Given the description of an element on the screen output the (x, y) to click on. 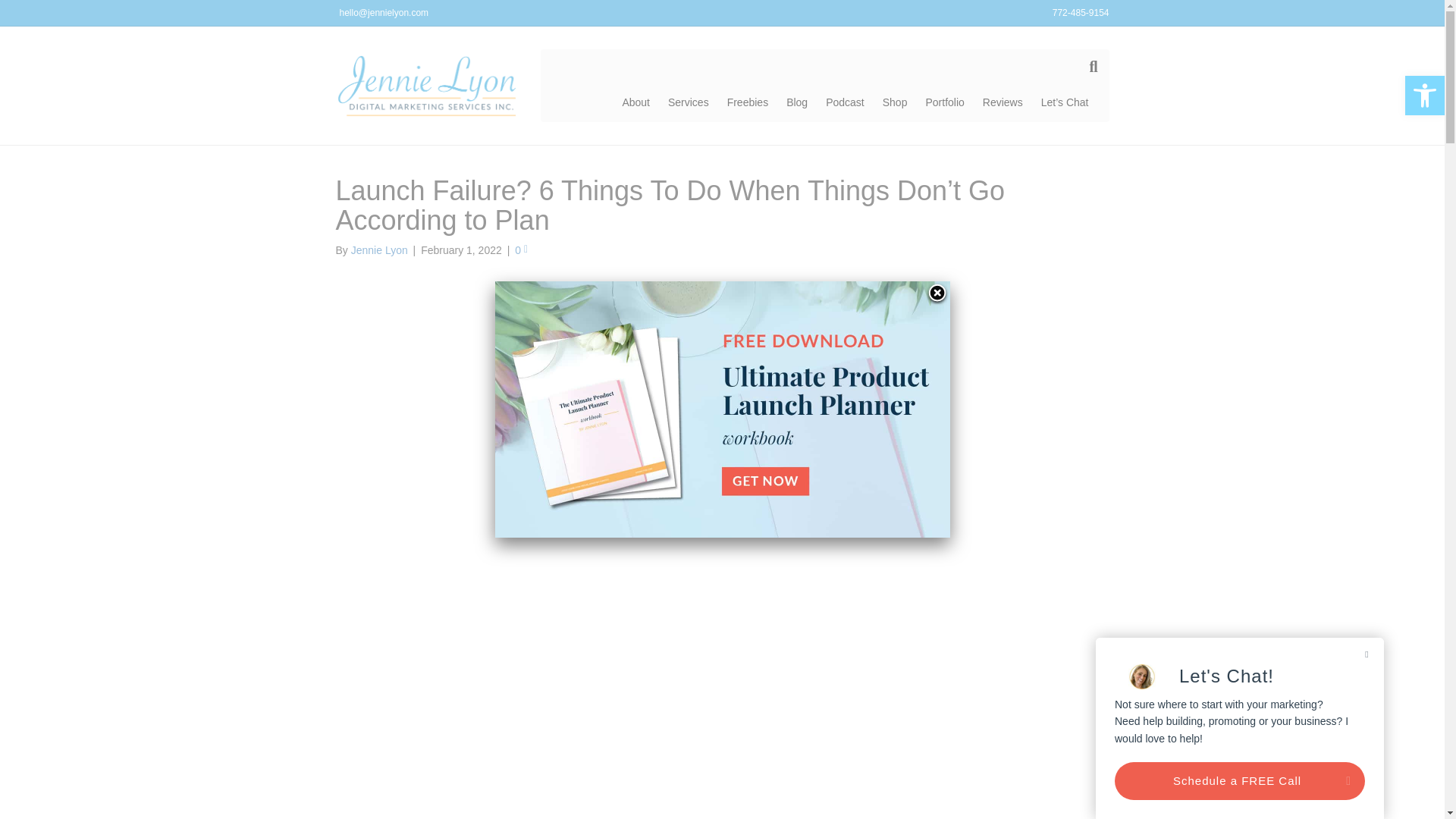
Accessibility Tools (1424, 95)
